Given the description of an element on the screen output the (x, y) to click on. 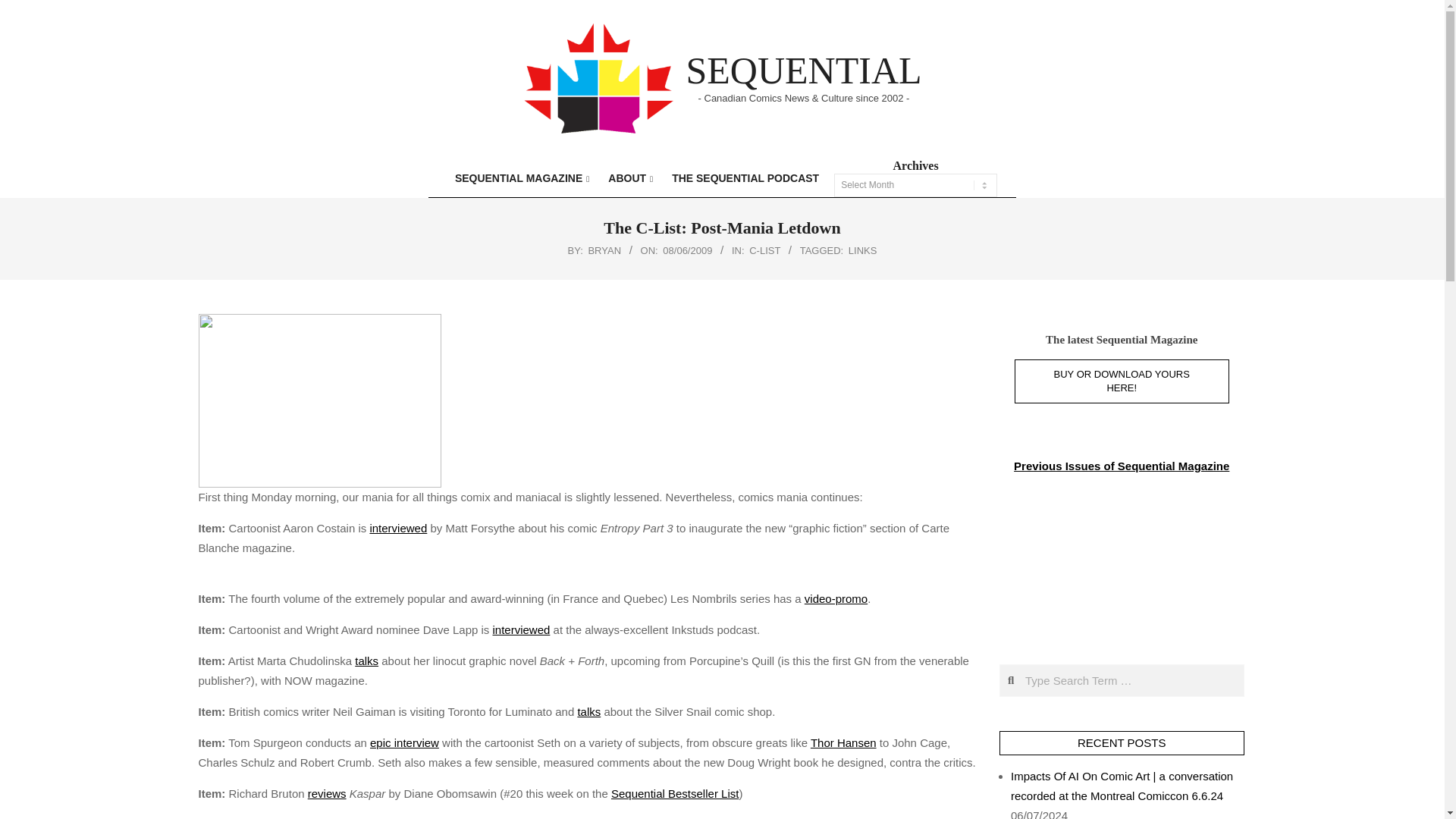
SEQUENTIAL (803, 70)
LINKS (862, 250)
epic interview (404, 742)
talks (366, 660)
SEQUENTIAL MAGAZINE (520, 178)
interviewed (397, 527)
BRYAN (604, 250)
Sequential Bestseller List (674, 793)
THE SEQUENTIAL PODCAST (745, 178)
SEQUENTIAL TV (1112, 567)
talks (587, 711)
interviewed (521, 629)
reviews (326, 793)
C-LIST (764, 250)
ABOUT (628, 178)
